Given the description of an element on the screen output the (x, y) to click on. 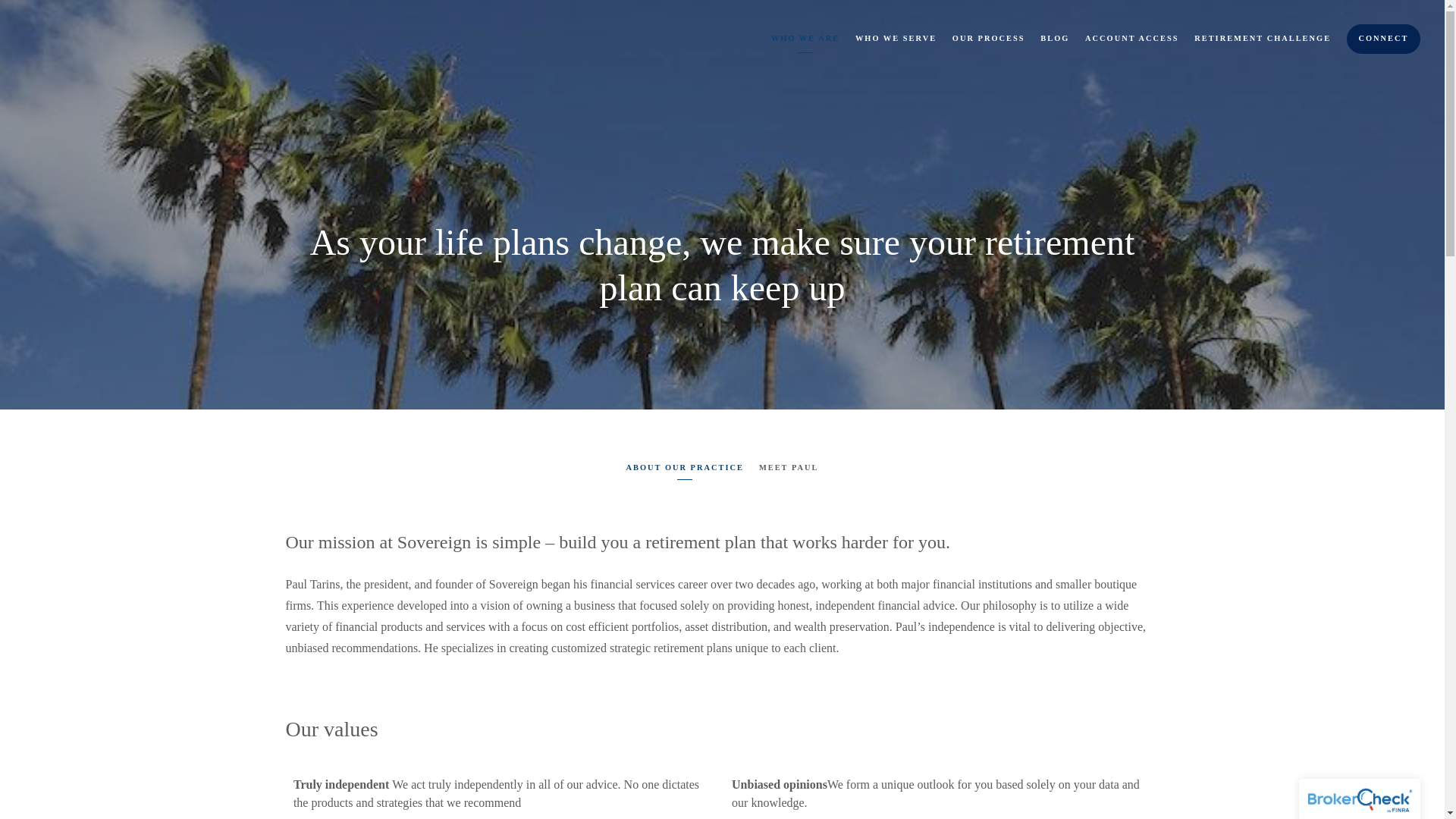
BLOG (1054, 38)
OUR PROCESS (988, 38)
RETIREMENT CHALLENGE (1261, 38)
WHO WE SERVE (896, 38)
CONNECT (1383, 39)
WHO WE ARE (805, 38)
ACCOUNT ACCESS (1130, 38)
ABOUT OUR PRACTICE (685, 468)
MEET PAUL (788, 468)
